Given the description of an element on the screen output the (x, y) to click on. 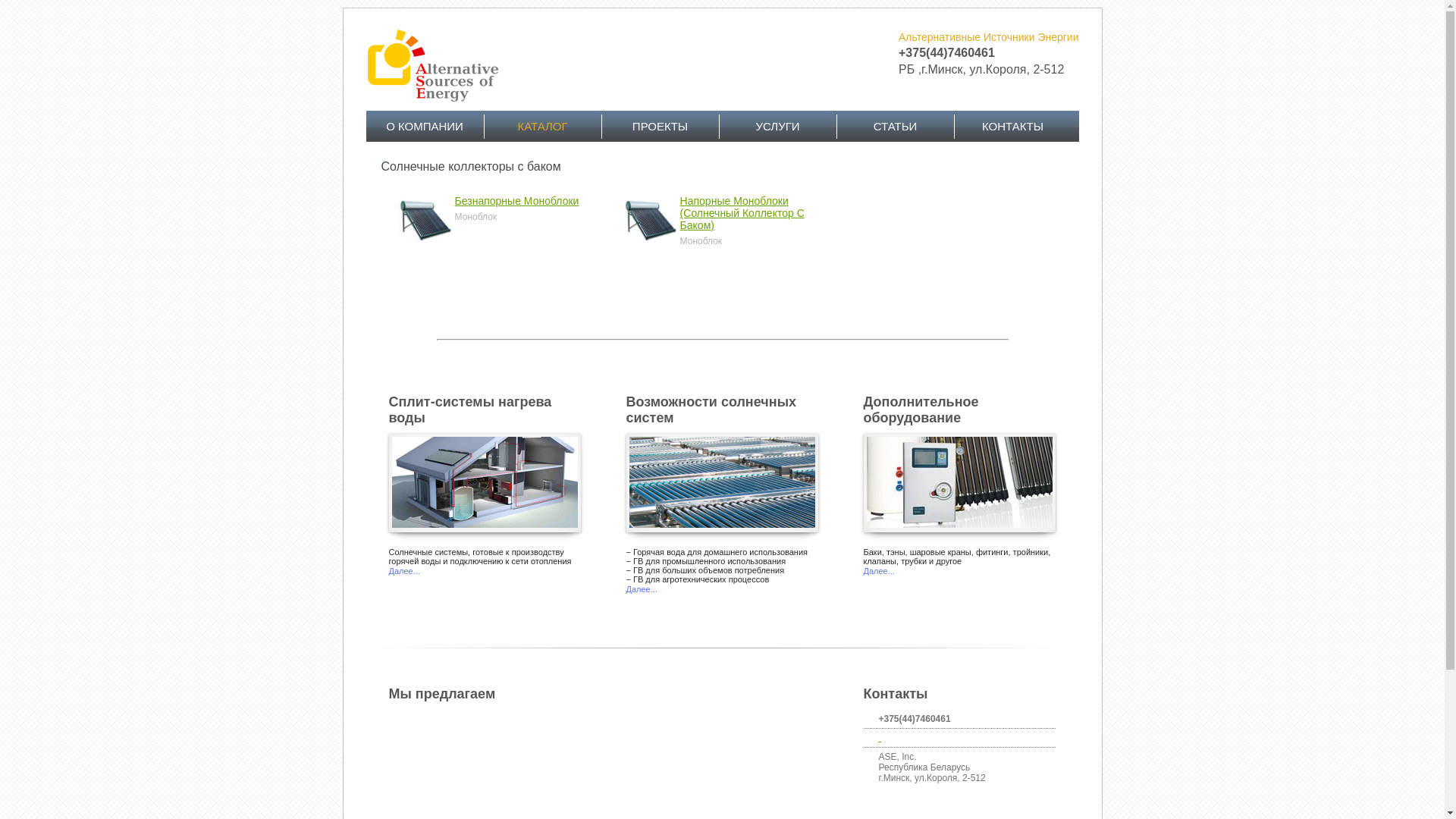
  Element type: text (879, 737)
